Given the description of an element on the screen output the (x, y) to click on. 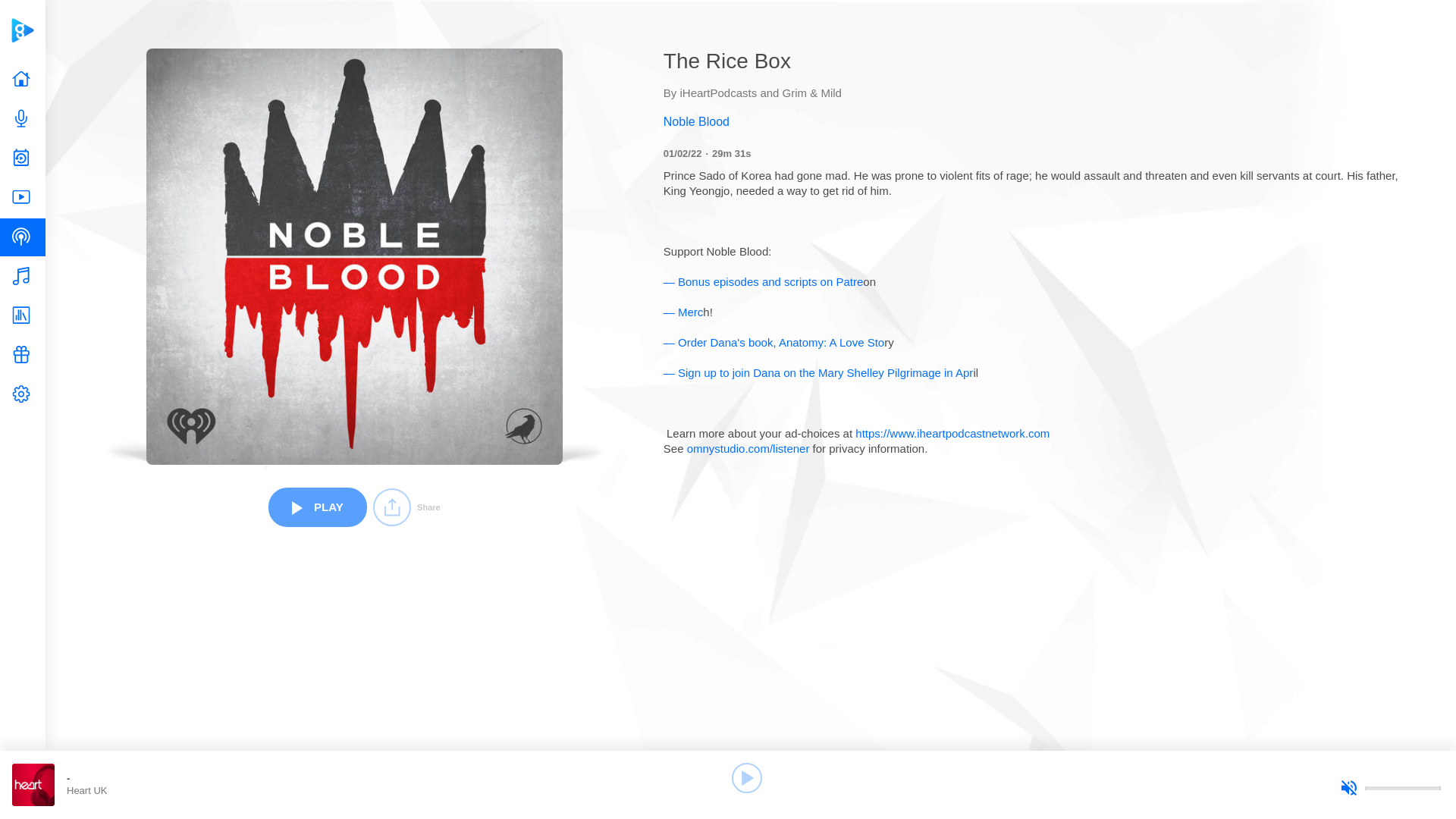
Noble Blood (1035, 121)
Global Player (22, 30)
Global Player (22, 30)
Share (406, 507)
PLAY (316, 507)
Share (406, 507)
